Given the description of an element on the screen output the (x, y) to click on. 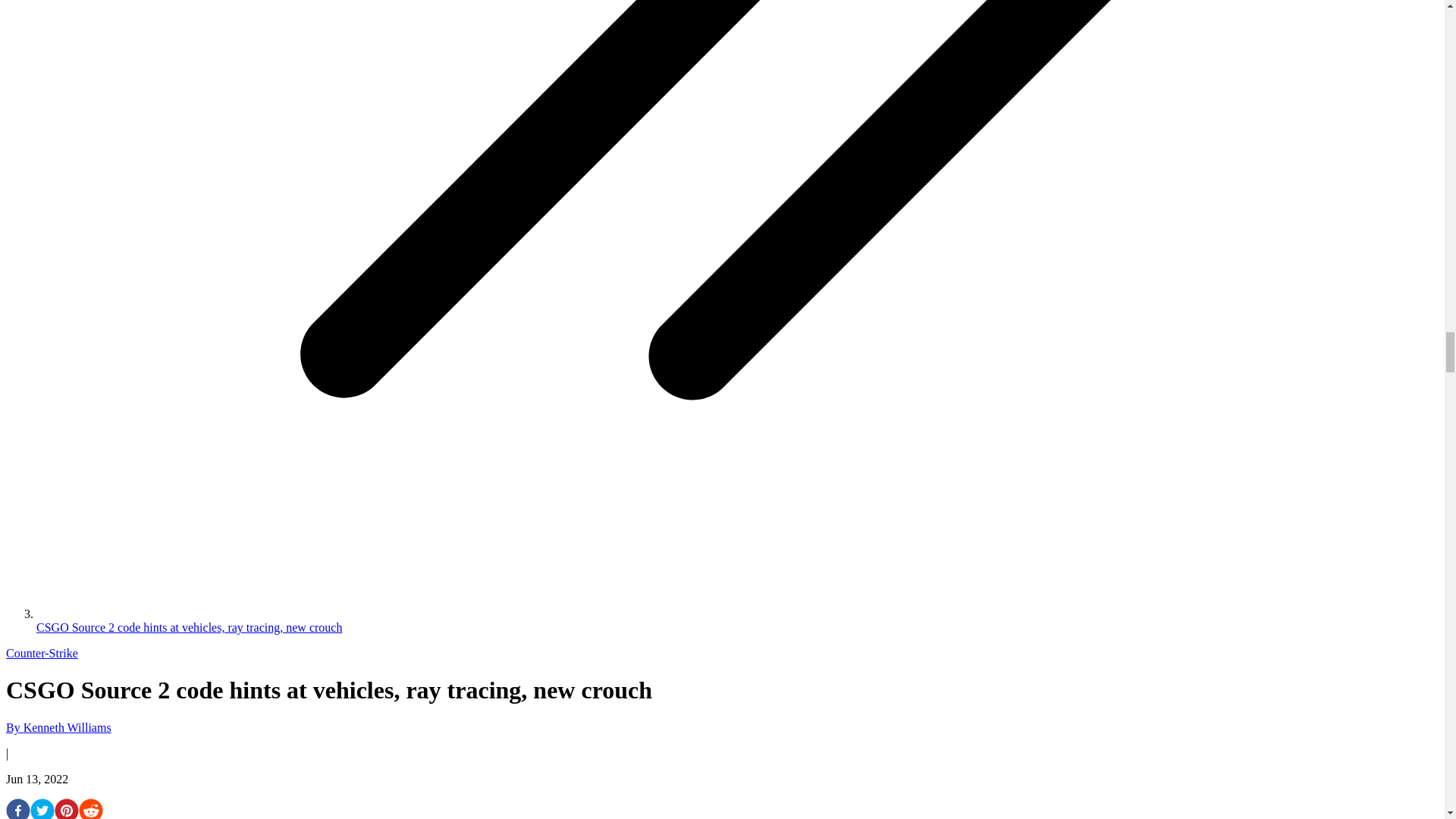
By Kenneth Williams (58, 727)
Counter-Strike (41, 653)
